Given the description of an element on the screen output the (x, y) to click on. 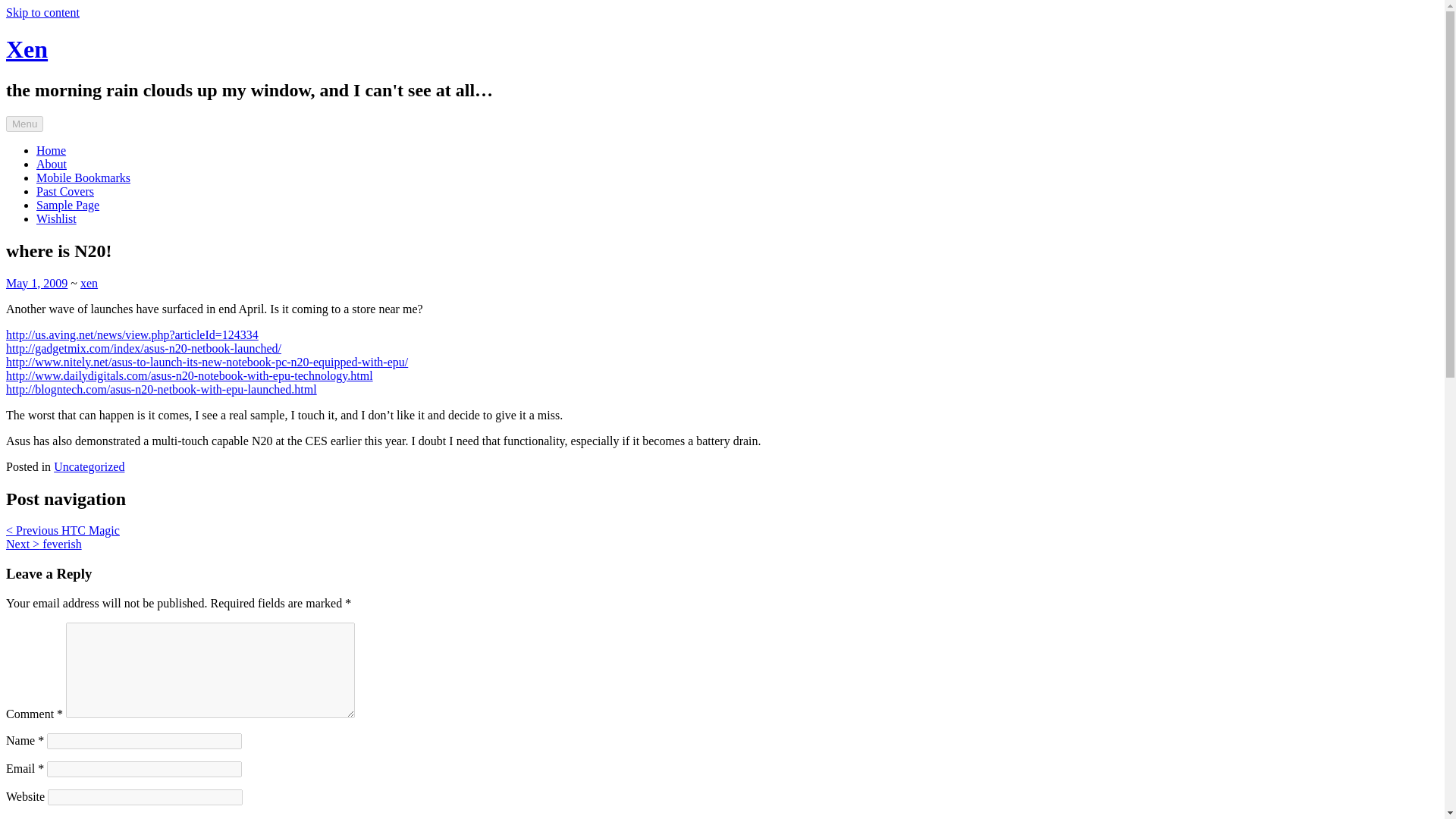
Wishlist (56, 218)
Xen (26, 49)
May 1, 2009 (35, 282)
Menu (24, 123)
xen (88, 282)
Skip to content (42, 11)
Uncategorized (88, 466)
Home (50, 150)
About (51, 164)
Sample Page (67, 205)
Past Covers (65, 191)
Mobile Bookmarks (83, 177)
